Given the description of an element on the screen output the (x, y) to click on. 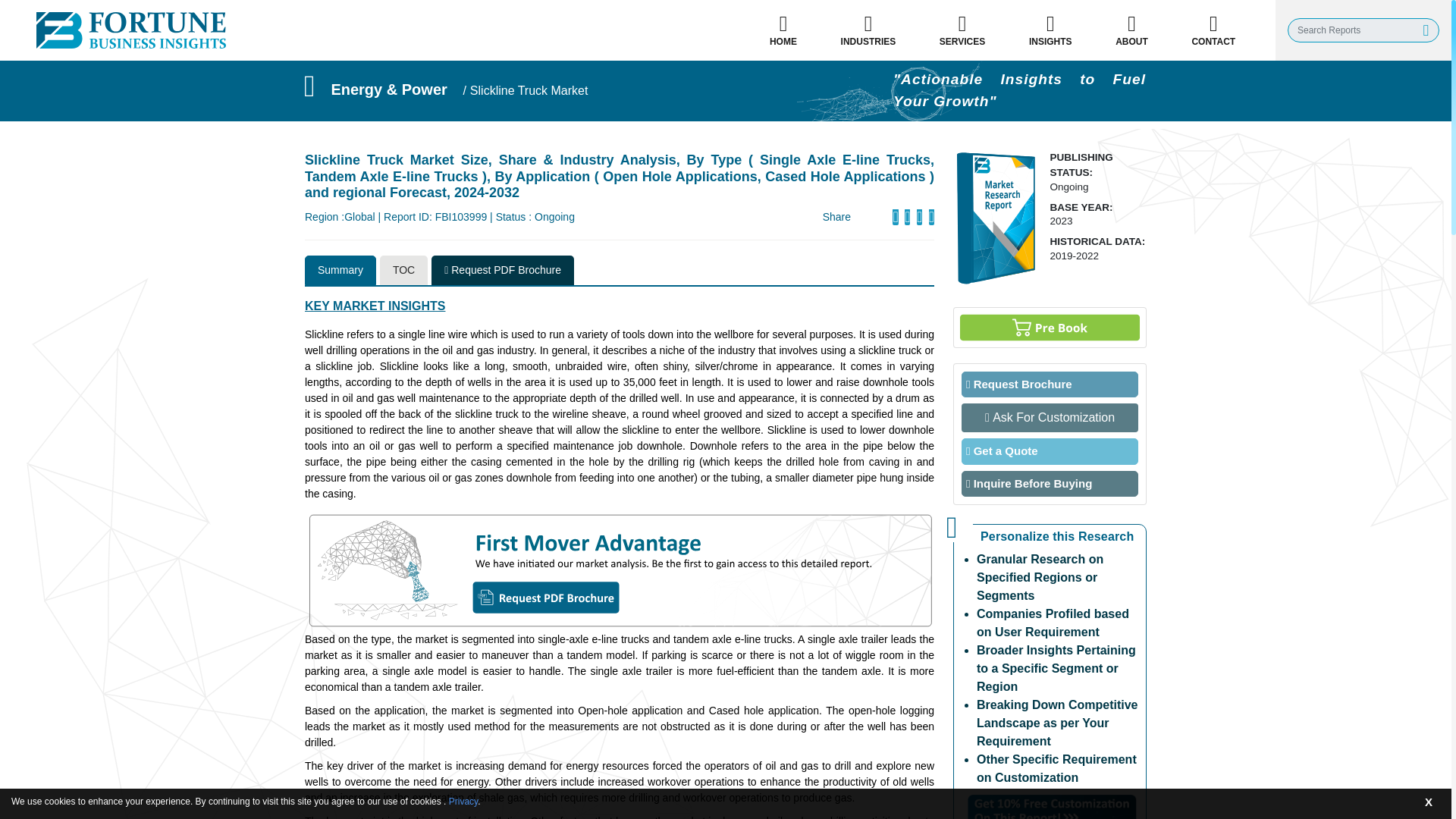
INDUSTRIES (867, 29)
Share by Linkedin (931, 217)
Share by Email (895, 217)
Share by Twitter (919, 217)
Share on Facebook (907, 217)
SERVICES (962, 29)
INSIGHTS (1050, 29)
